Given the description of an element on the screen output the (x, y) to click on. 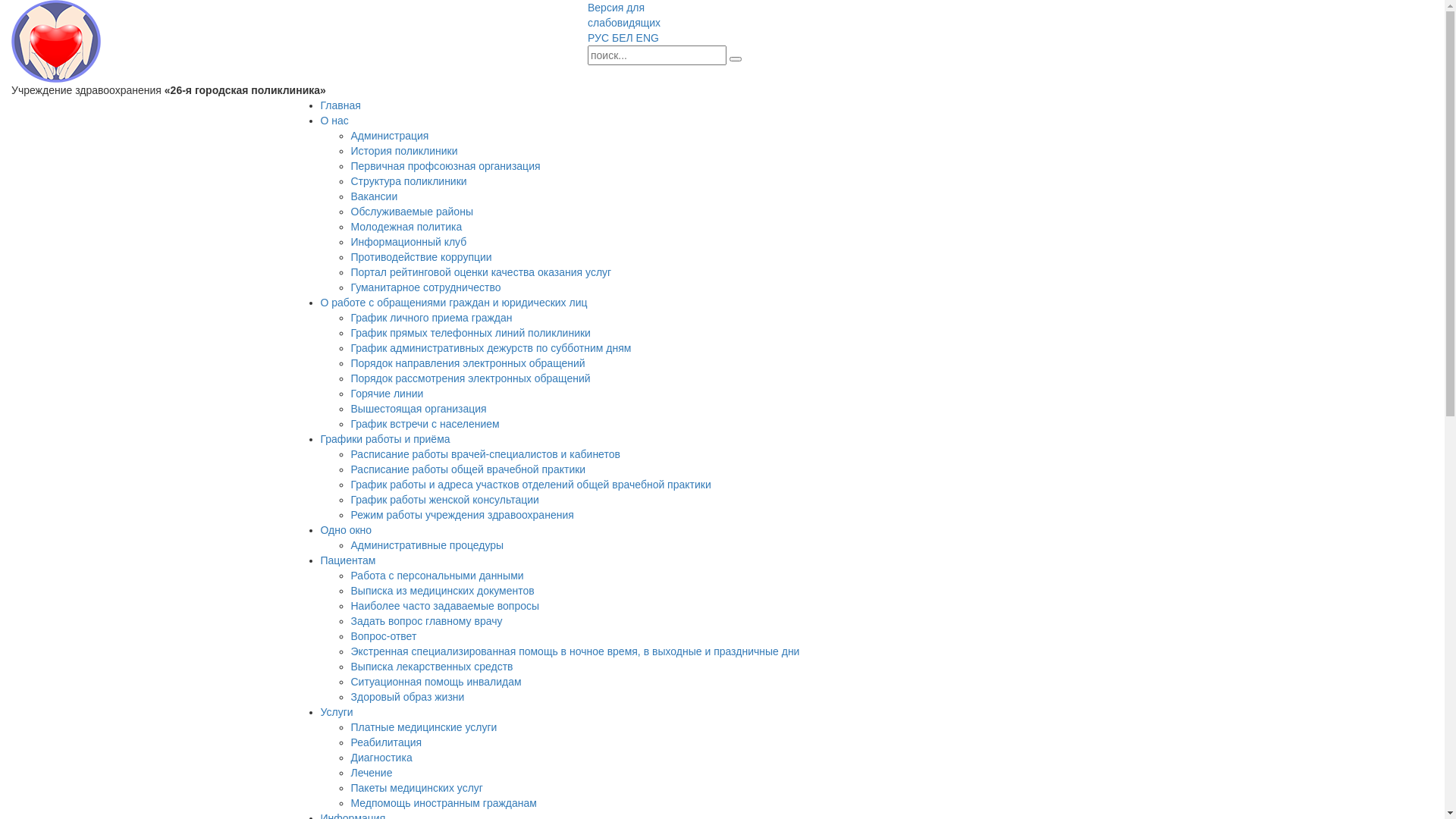
ENG Element type: text (647, 37)
